Given the description of an element on the screen output the (x, y) to click on. 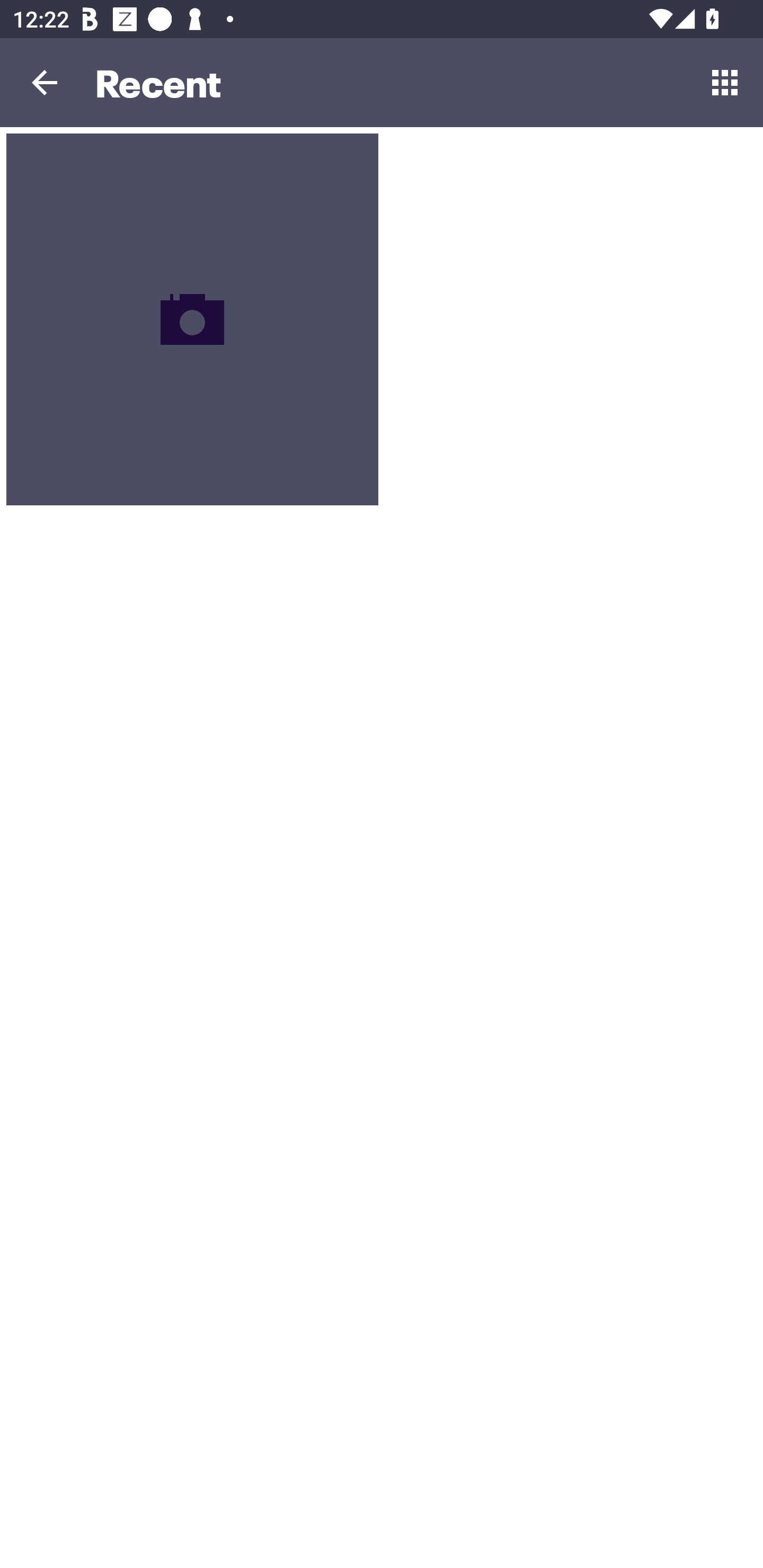
Navigate up (44, 82)
Select from gallery (724, 81)
